Given the description of an element on the screen output the (x, y) to click on. 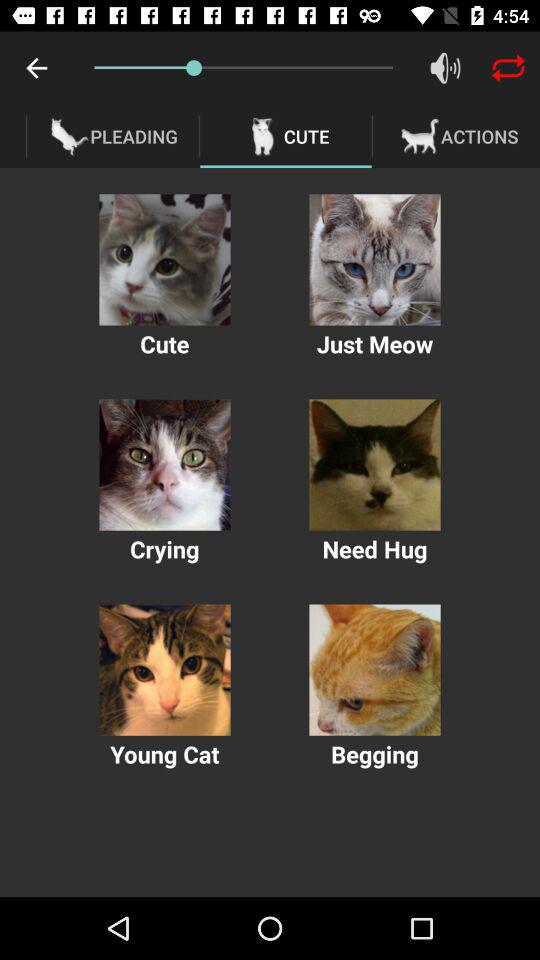
make a noise to meow (374, 259)
